Given the description of an element on the screen output the (x, y) to click on. 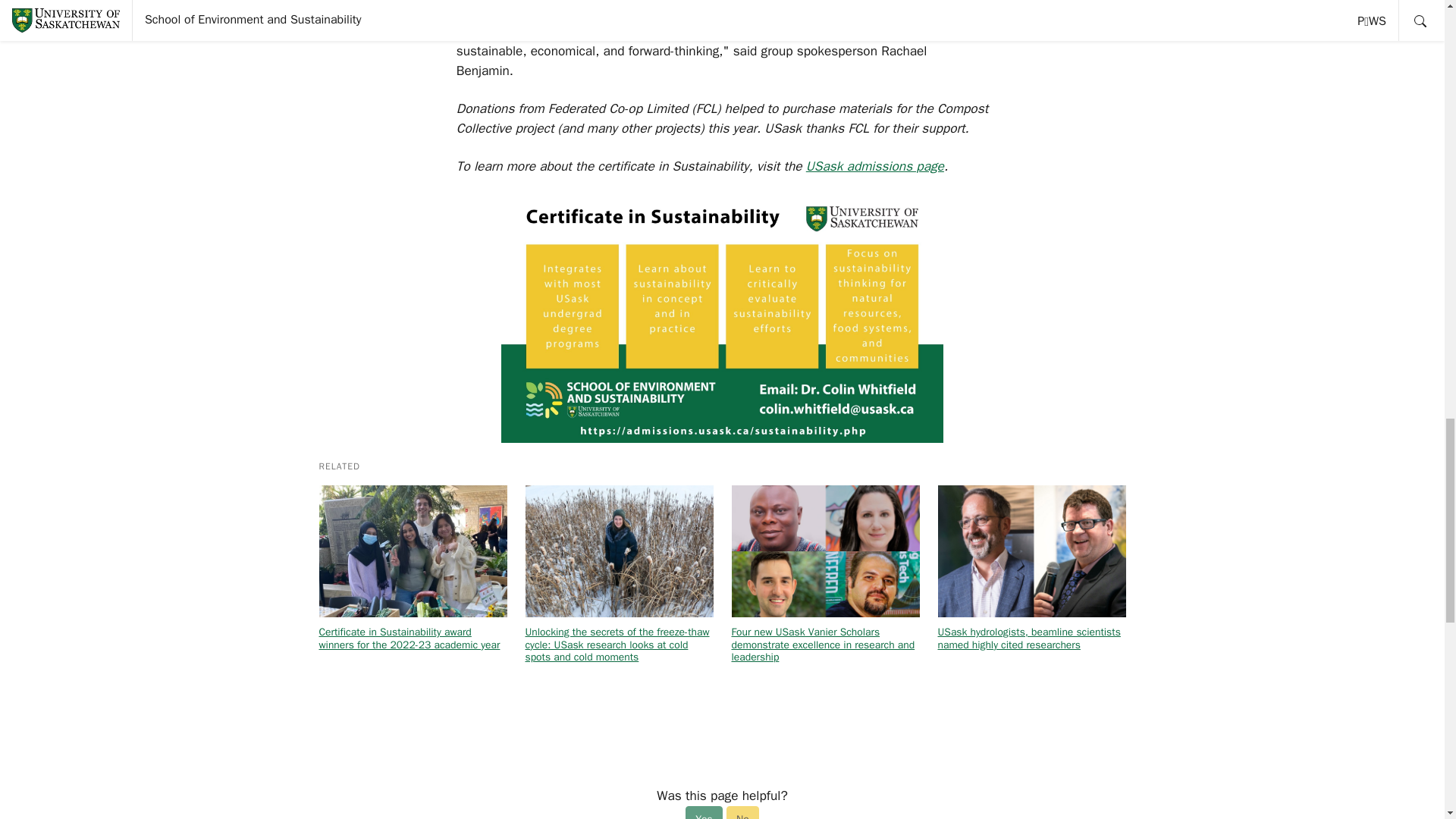
USask admissions page (874, 166)
